Given the description of an element on the screen output the (x, y) to click on. 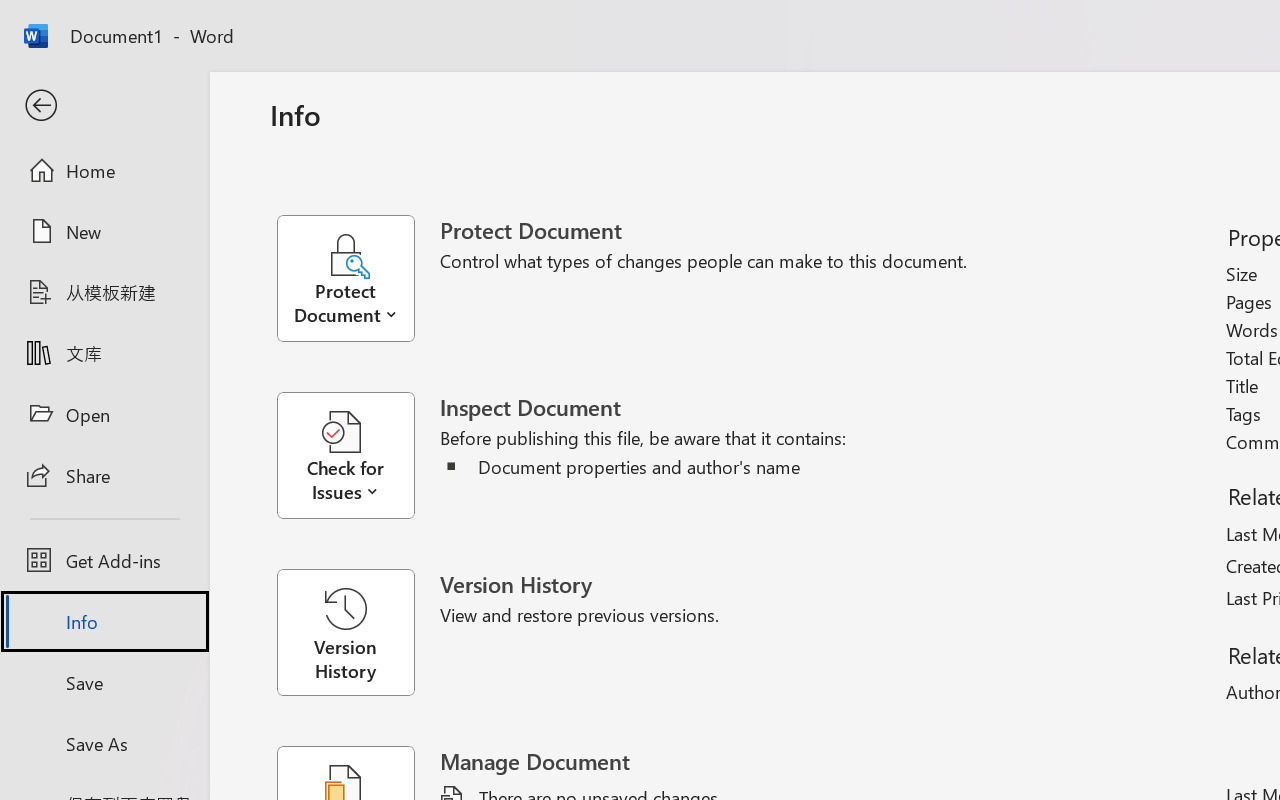
Back (104, 106)
Save As (104, 743)
Version History (345, 632)
Protect Document (358, 278)
New (104, 231)
Info (104, 621)
Get Add-ins (104, 560)
Check for Issues (358, 455)
